Given the description of an element on the screen output the (x, y) to click on. 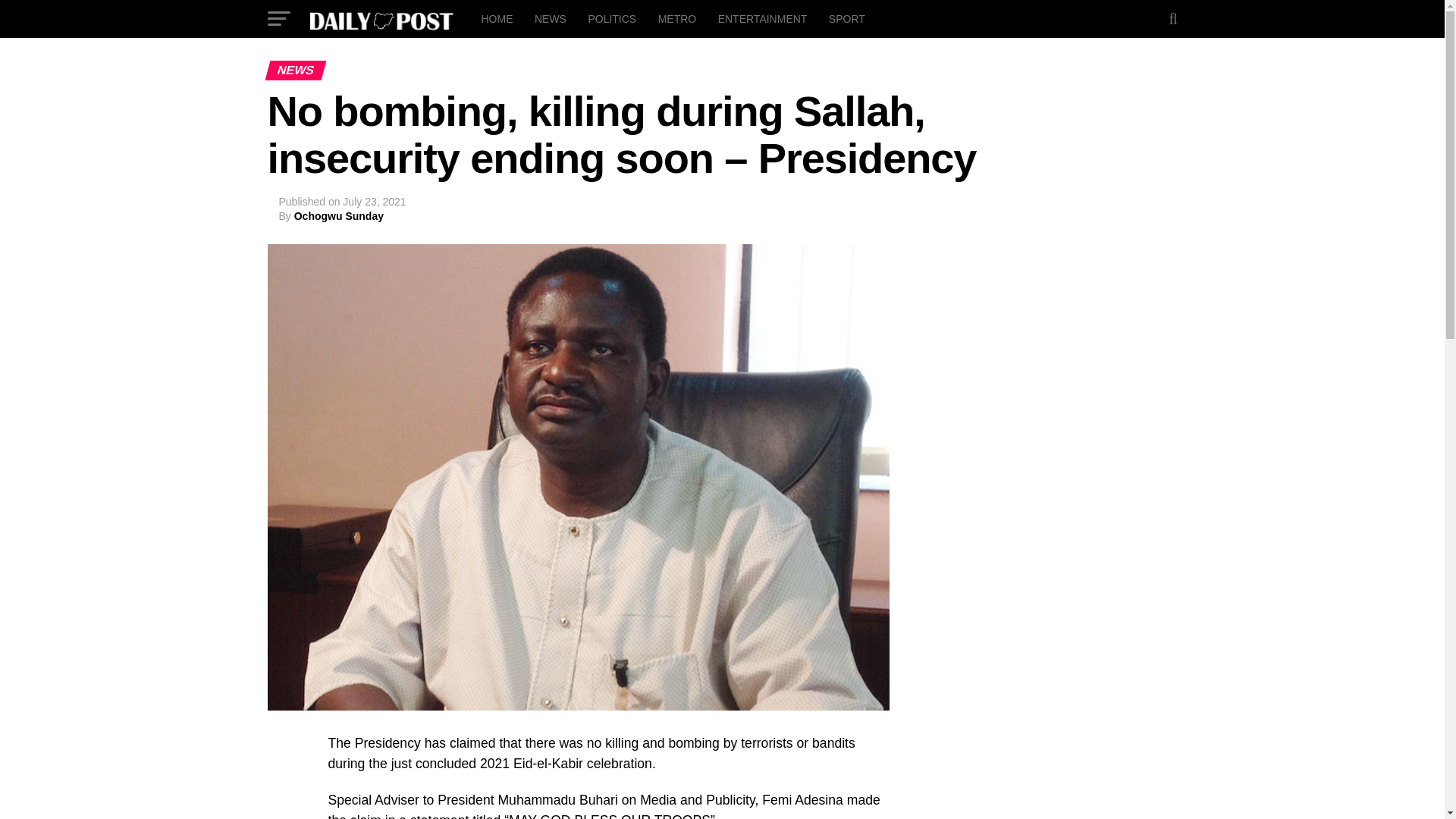
NEWS (550, 18)
SPORT (847, 18)
POLITICS (611, 18)
ENTERTAINMENT (762, 18)
Posts by Ochogwu Sunday (339, 215)
METRO (677, 18)
Ochogwu Sunday (339, 215)
HOME (496, 18)
